Given the description of an element on the screen output the (x, y) to click on. 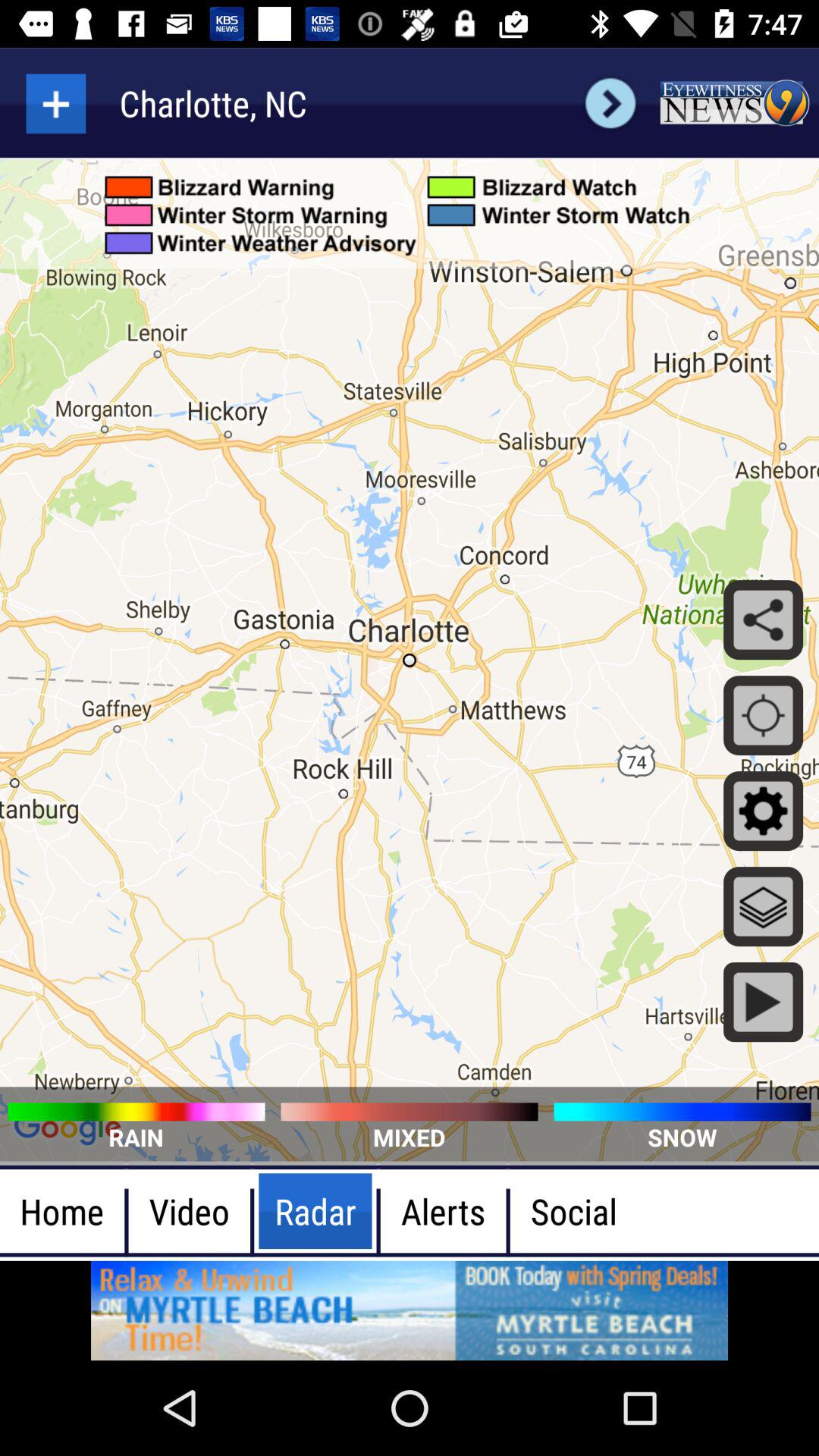
view advertisement (409, 1310)
